Given the description of an element on the screen output the (x, y) to click on. 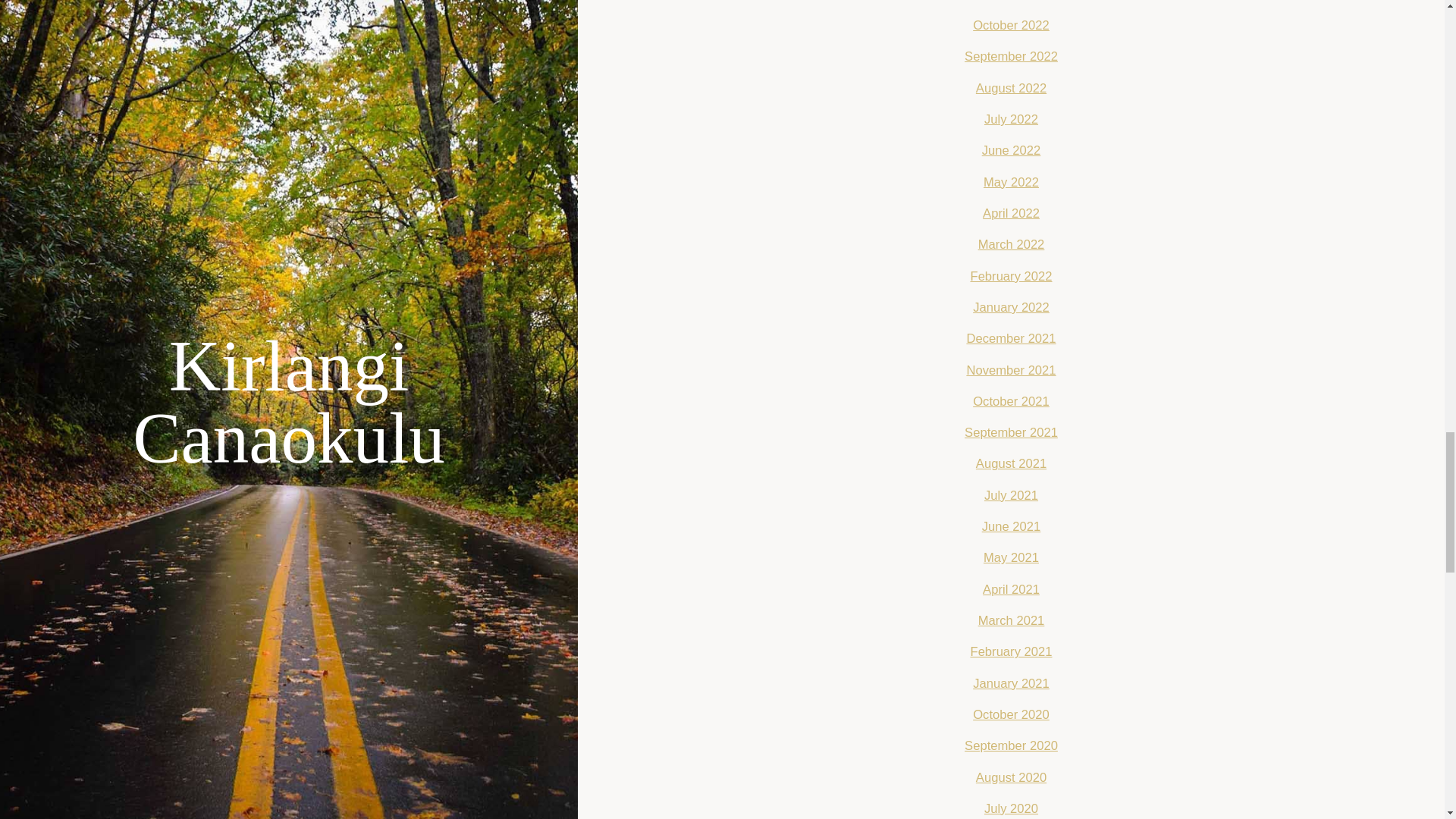
November 2021 (1010, 370)
October 2022 (1010, 25)
November 2022 (1010, 0)
March 2022 (1011, 244)
December 2021 (1010, 338)
February 2022 (1010, 276)
June 2021 (1011, 526)
August 2022 (1010, 88)
January 2022 (1010, 307)
September 2022 (1010, 56)
